Given the description of an element on the screen output the (x, y) to click on. 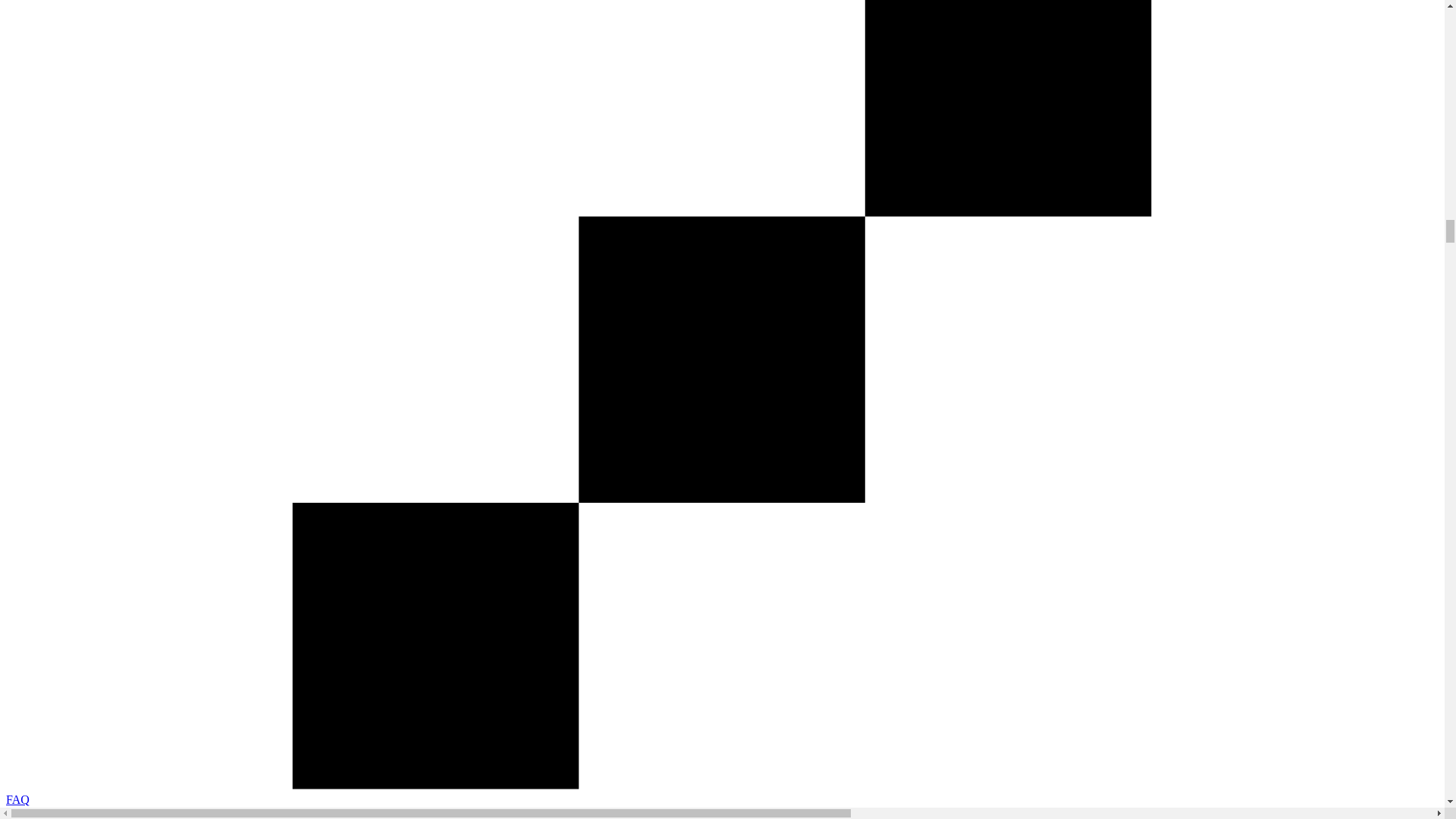
About Us (28, 812)
FAQ (17, 799)
